Given the description of an element on the screen output the (x, y) to click on. 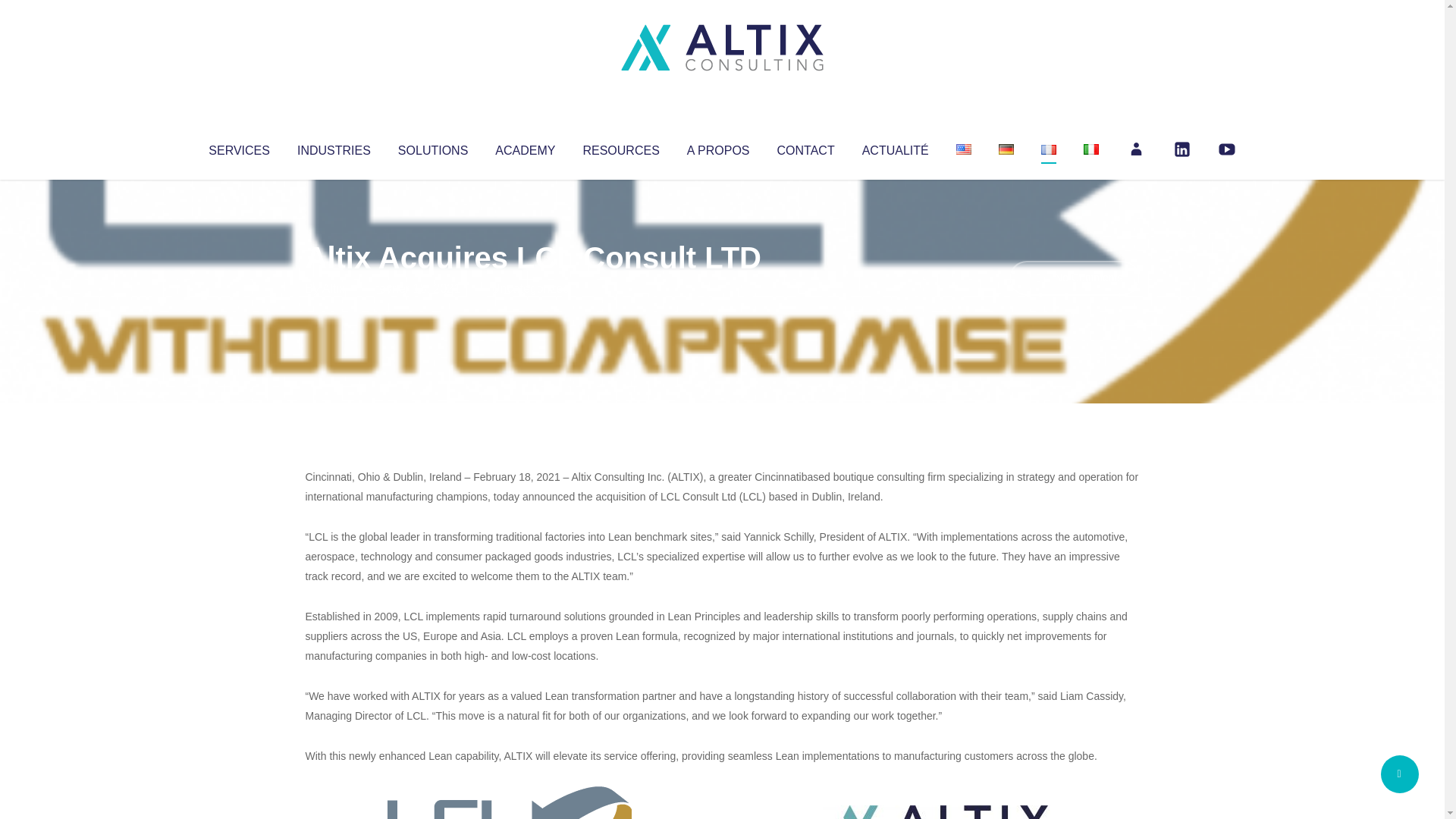
Articles par Altix (333, 287)
INDUSTRIES (334, 146)
SOLUTIONS (432, 146)
RESOURCES (620, 146)
No Comments (1073, 278)
A PROPOS (718, 146)
SERVICES (238, 146)
Uncategorized (530, 287)
ACADEMY (524, 146)
Altix (333, 287)
